Given the description of an element on the screen output the (x, y) to click on. 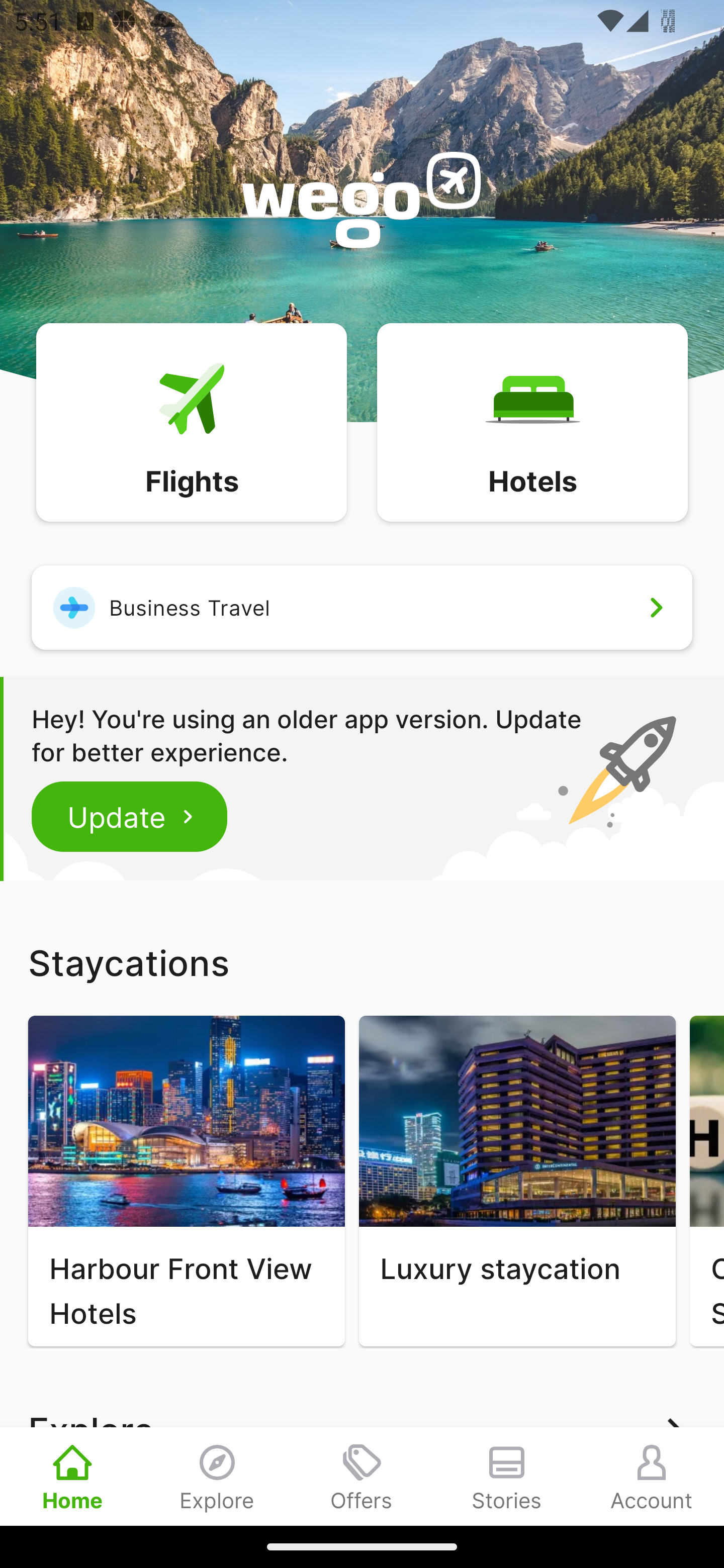
Flights (191, 420)
Hotels (532, 420)
Business Travel (361, 607)
Update (129, 815)
Staycations (362, 962)
Harbour Front View Hotels (186, 1181)
Luxury staycation (517, 1181)
Explore (216, 1475)
Offers (361, 1475)
Stories (506, 1475)
Account (651, 1475)
